Given the description of an element on the screen output the (x, y) to click on. 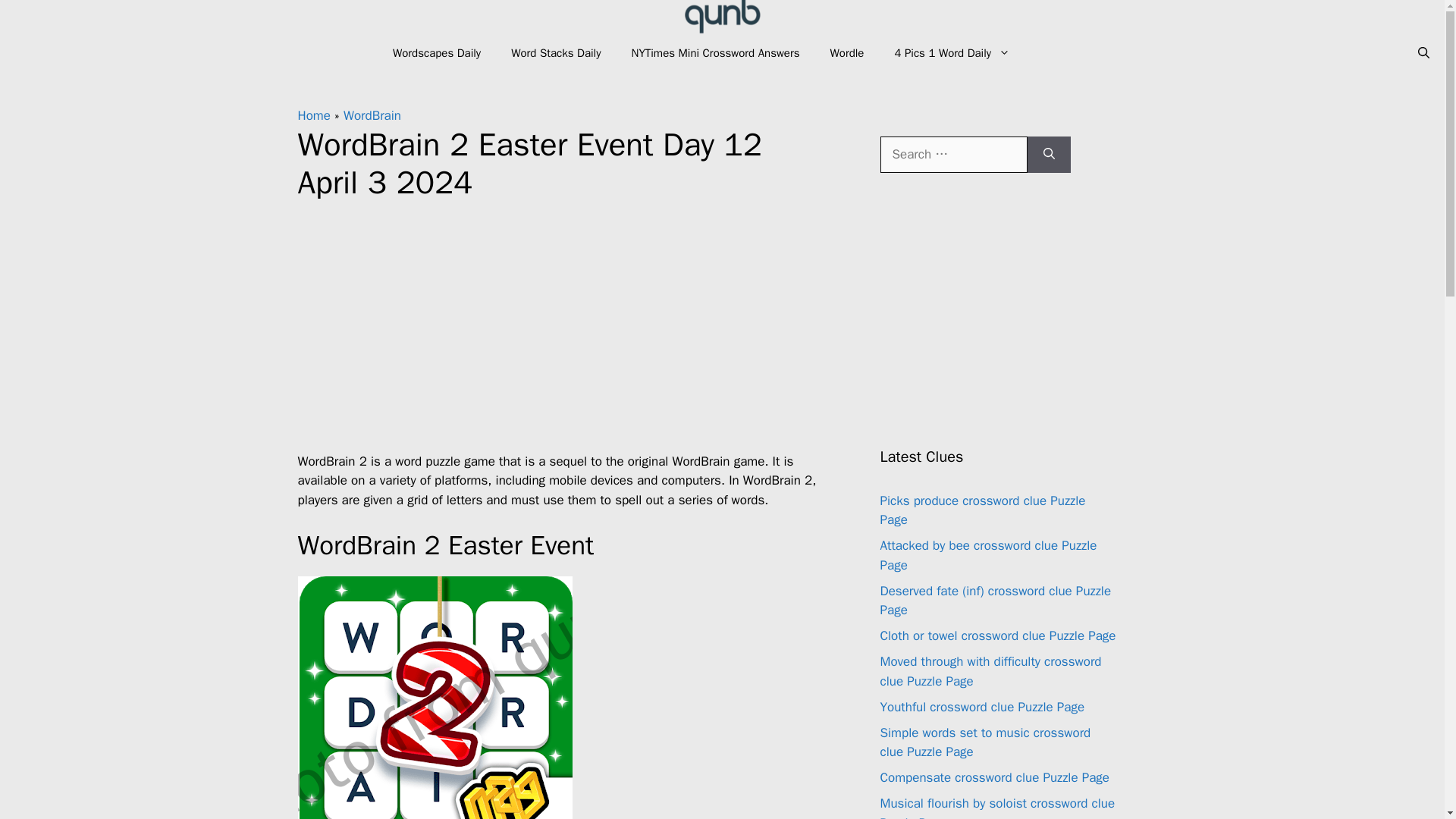
Moved through with difficulty crossword clue Puzzle Page (989, 671)
Advertisement (557, 333)
Attacked by bee crossword clue Puzzle Page (987, 555)
Home (313, 115)
Cloth or towel crossword clue Puzzle Page (997, 635)
Simple words set to music crossword clue Puzzle Page (984, 742)
Youthful crossword clue Puzzle Page (981, 706)
NYTimes Mini Crossword Answers (714, 53)
Picks produce crossword clue Puzzle Page (981, 510)
Wordle (847, 53)
WordBrain (372, 115)
Compensate crossword clue Puzzle Page (994, 777)
Word Stacks Daily (555, 53)
Wordscapes Daily (436, 53)
Search for: (952, 154)
